Given the description of an element on the screen output the (x, y) to click on. 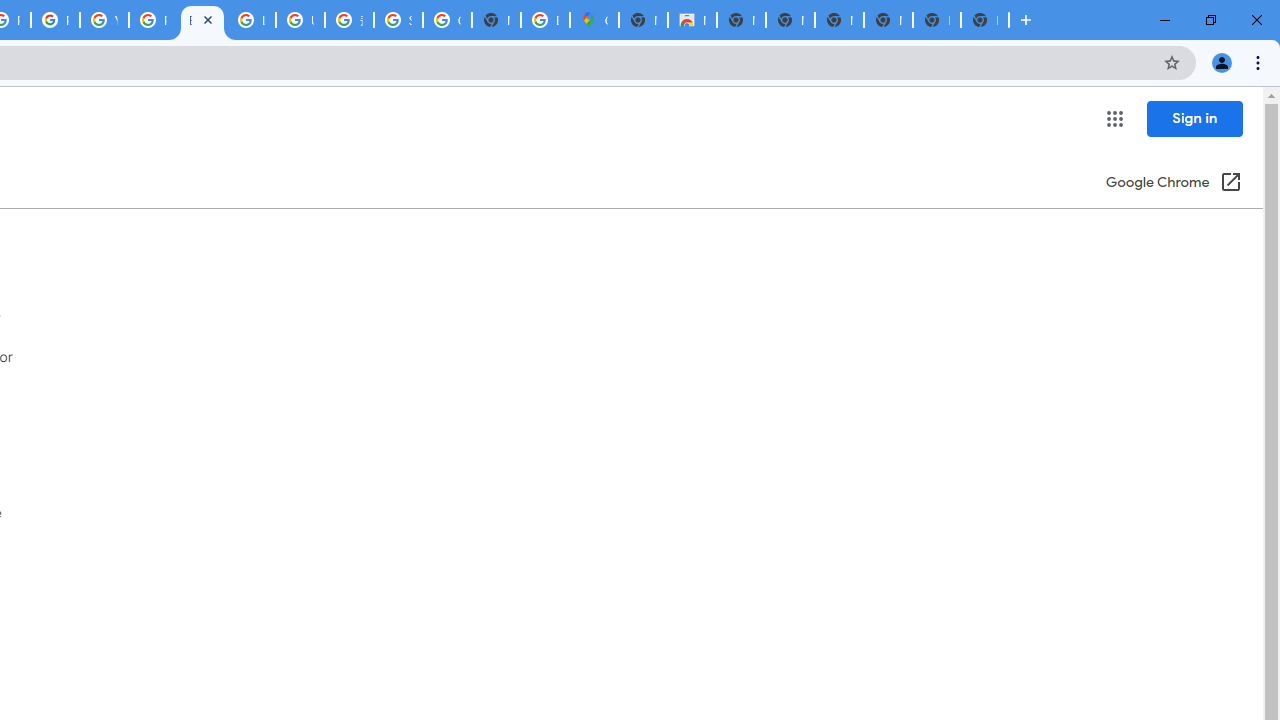
New Tab (984, 20)
Sign in - Google Accounts (398, 20)
New Tab (643, 20)
Explore new street-level details - Google Maps Help (545, 20)
YouTube (104, 20)
